Given the description of an element on the screen output the (x, y) to click on. 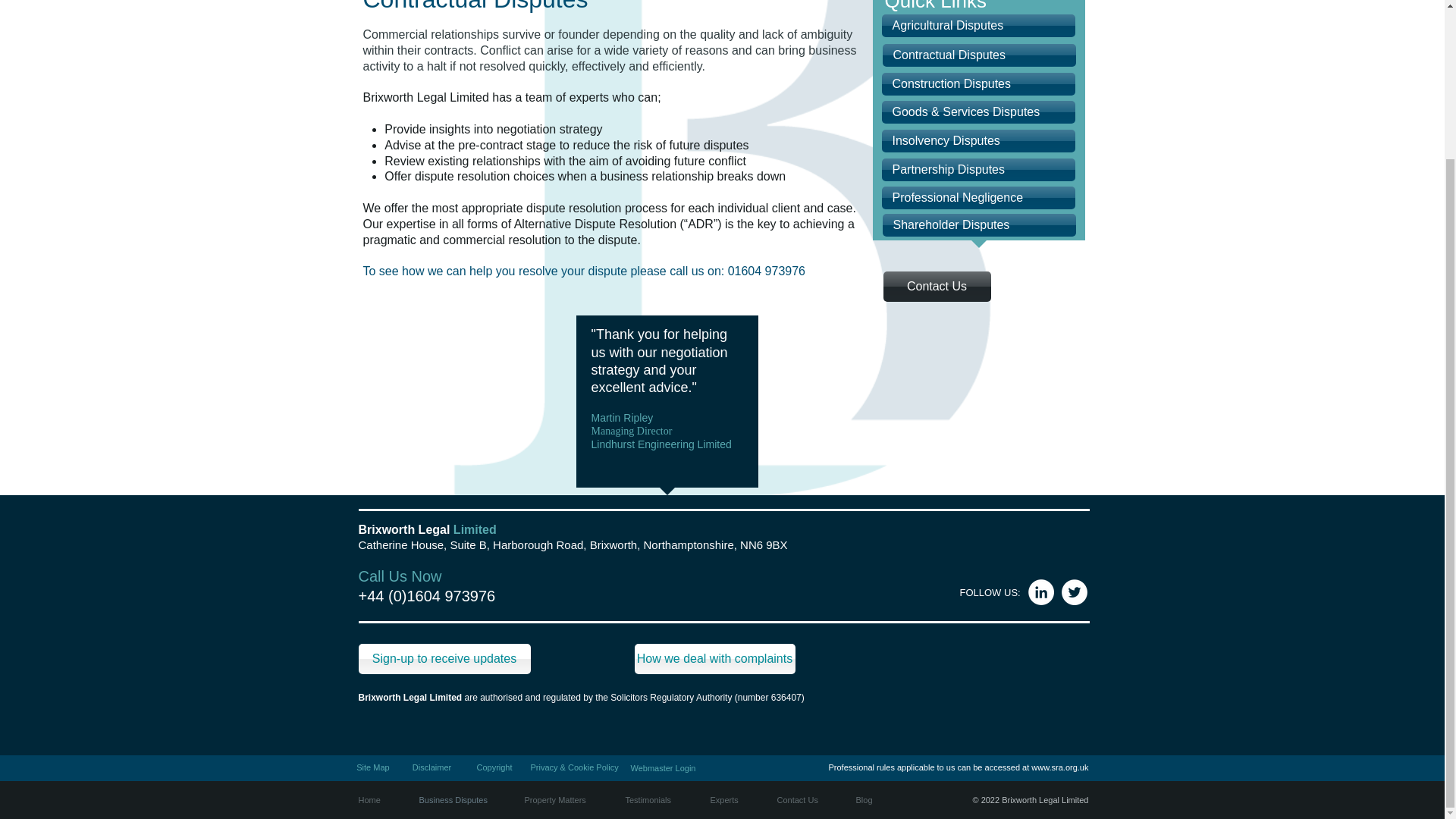
Construction Disputes (977, 83)
Contractual Disputes (978, 55)
Contact Us (936, 286)
Professional Negligence (977, 197)
Insolvency Disputes (977, 140)
Shareholder Disputes (978, 224)
Partnership Disputes (977, 169)
Agricultural Disputes (977, 25)
